Given the description of an element on the screen output the (x, y) to click on. 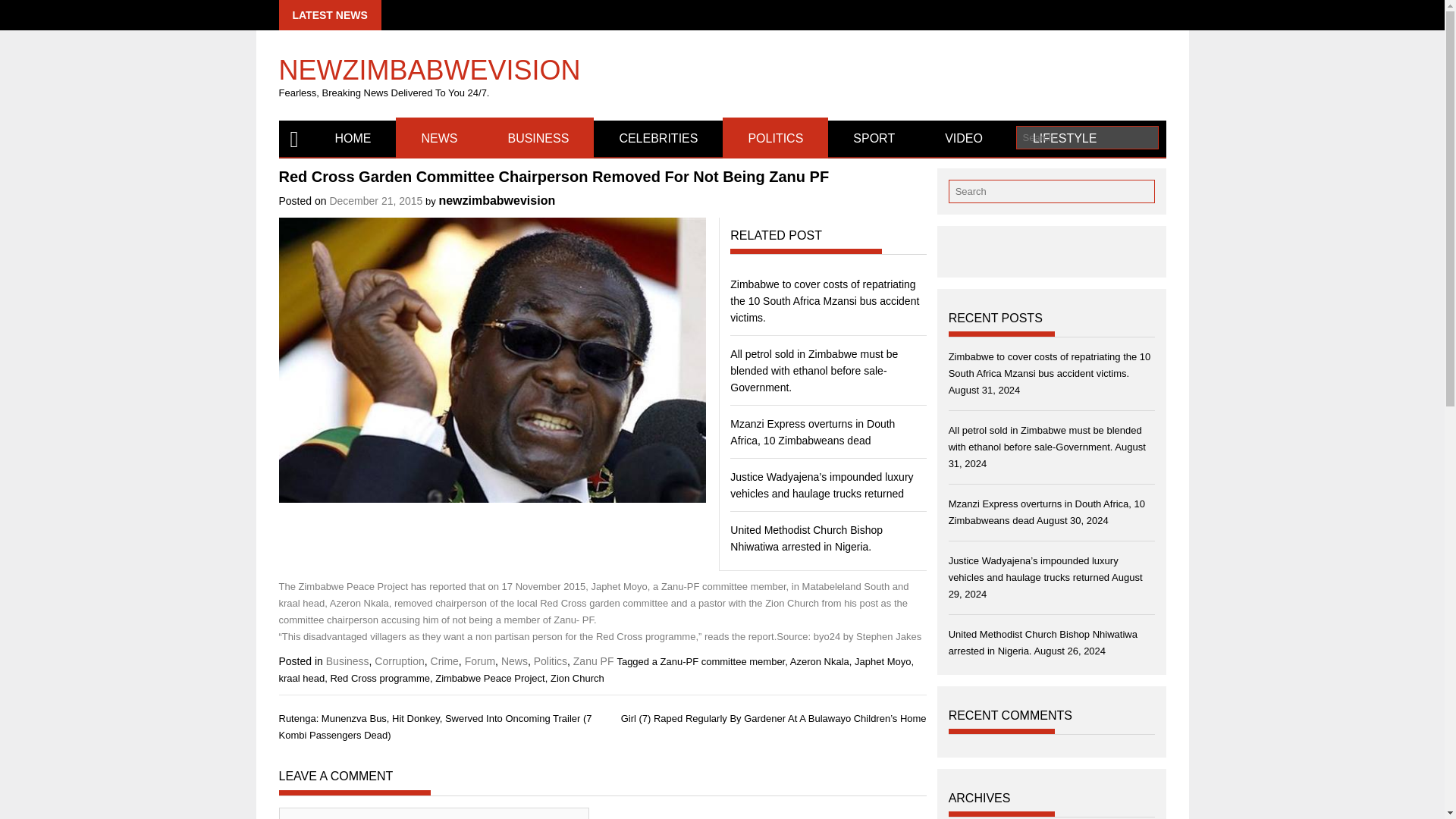
CELEBRITIES (658, 138)
Forum (479, 661)
a Zanu-PF committee member (719, 661)
Politics (550, 661)
VIDEO (963, 138)
Corruption (398, 661)
December 21, 2015 (375, 200)
Business (347, 661)
